Given the description of an element on the screen output the (x, y) to click on. 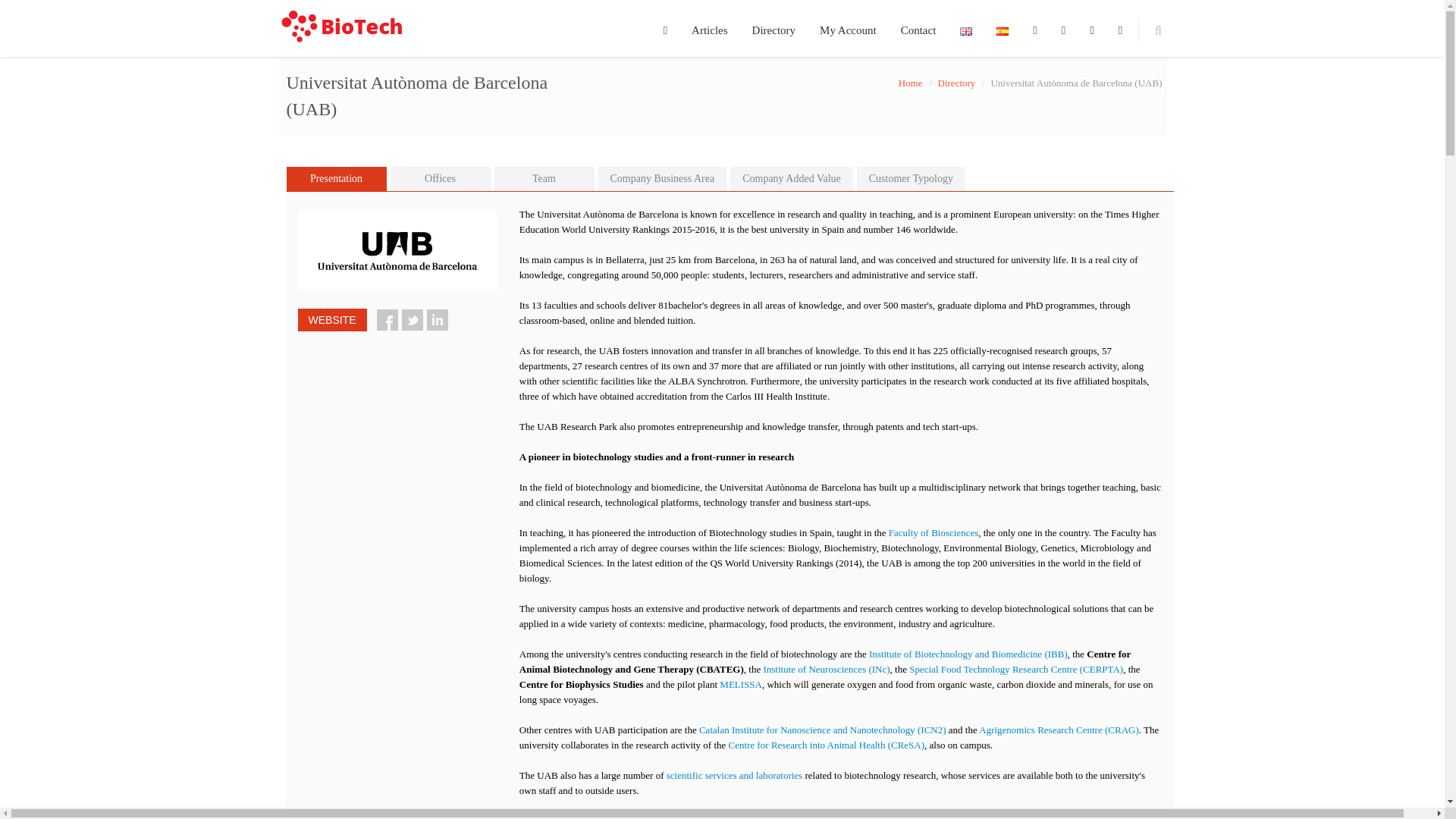
MELISSA (740, 684)
Directory (956, 82)
Faculty of Biosciences (933, 532)
Presentation (336, 178)
Customer Typology (911, 178)
Articles (709, 28)
scientific services and laboratories (734, 775)
Contact (918, 28)
My Account (848, 28)
Company Business Area (661, 178)
